Given the description of an element on the screen output the (x, y) to click on. 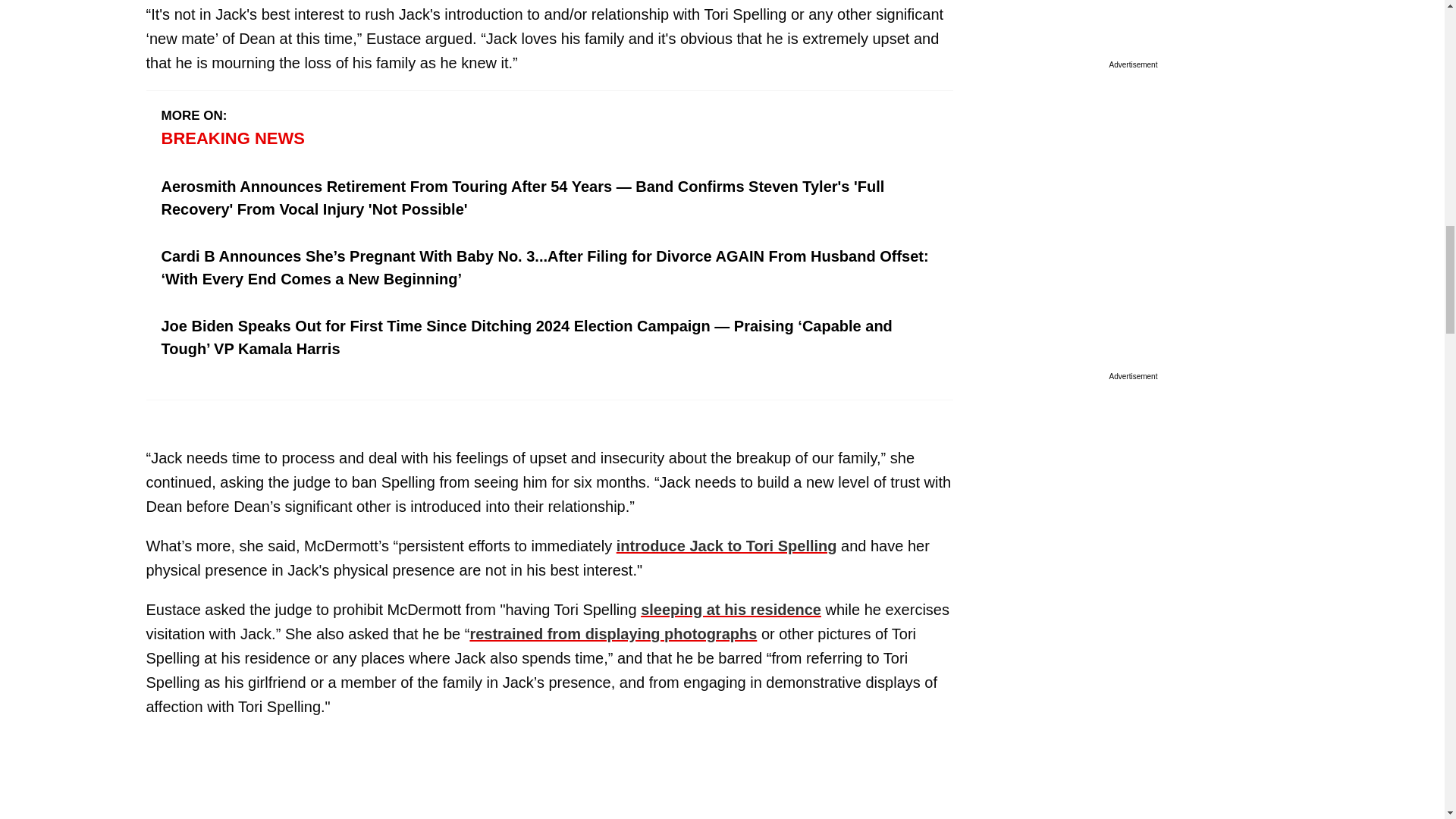
restrained from displaying photographs (612, 633)
sleeping at his residence (730, 609)
introduce Jack to Tori Spelling (726, 545)
